Given the description of an element on the screen output the (x, y) to click on. 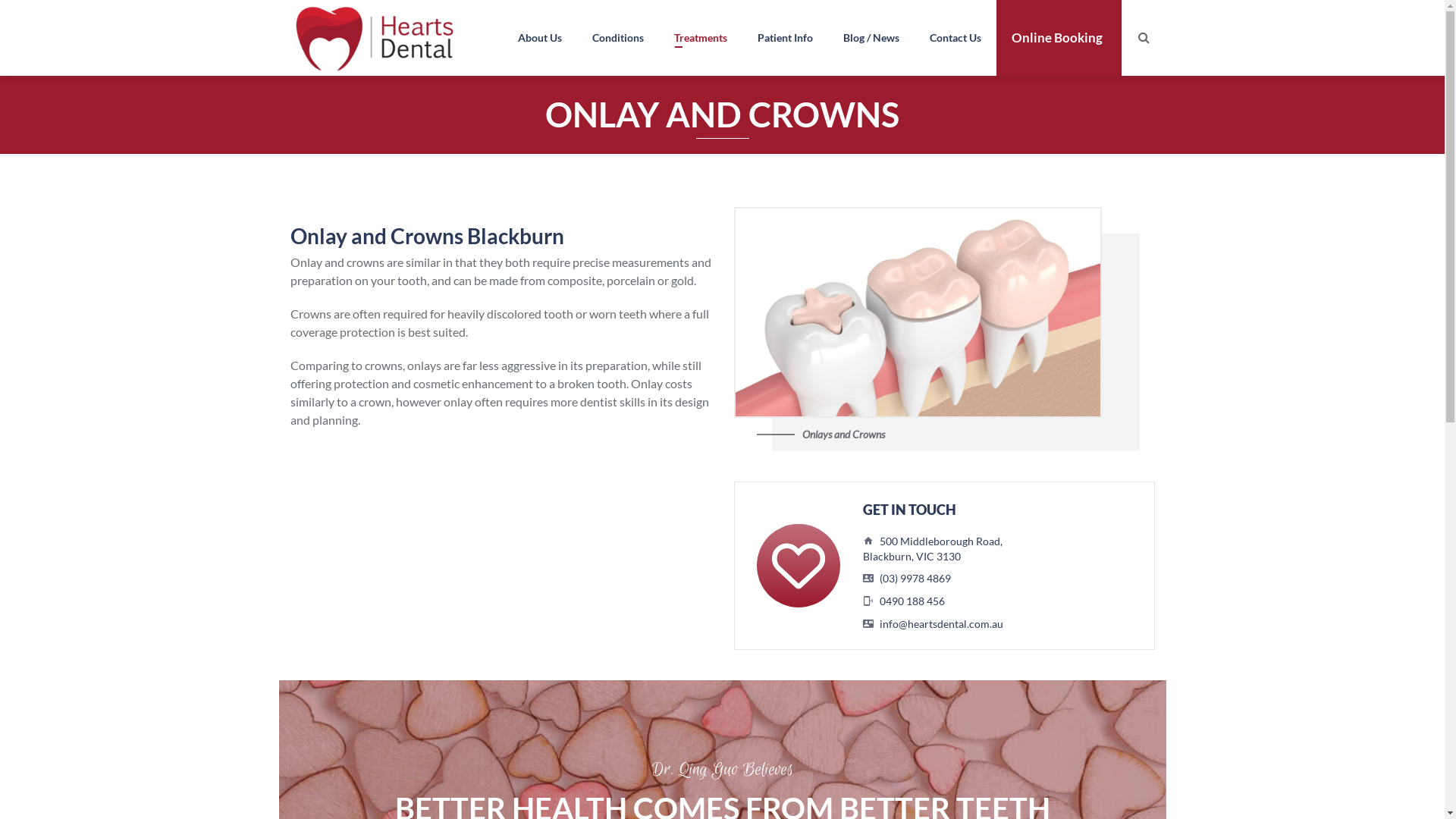
(03) 9978 4869 Element type: text (914, 577)
Patient Info Element type: text (784, 37)
Blog / News Element type: text (871, 37)
About Us Element type: text (539, 37)
Online Booking Element type: text (1058, 37)
500 Middleborough Road,
Blackburn, VIC 3130 Element type: text (932, 548)
info@heartsdental.com.au Element type: text (941, 623)
Treatments Element type: text (699, 37)
Conditions Element type: text (617, 37)
Contact Us Element type: text (955, 37)
0490 188 456 Element type: text (911, 600)
